Given the description of an element on the screen output the (x, y) to click on. 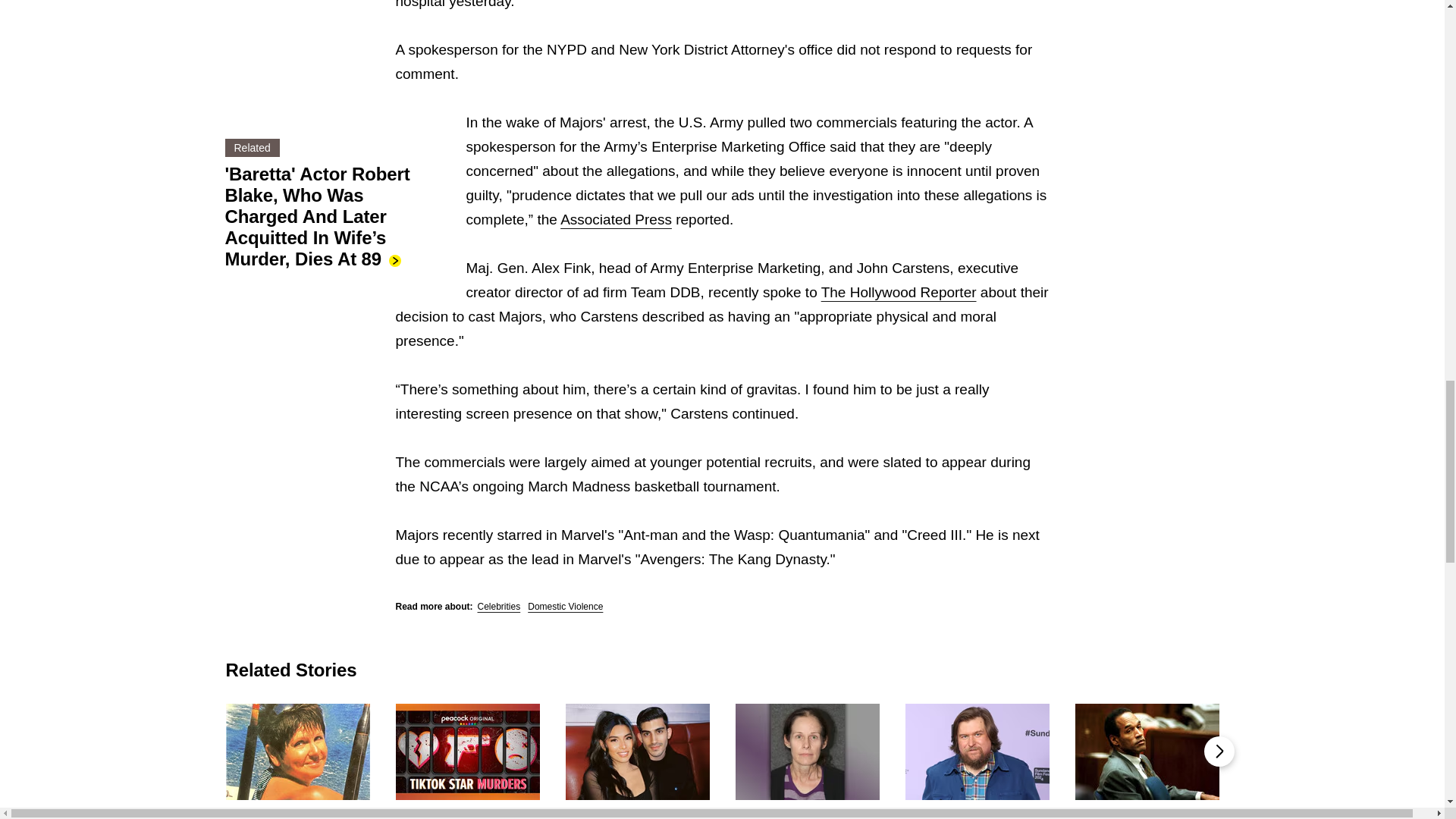
Domestic Violence (564, 606)
Reporter Details Chilling Interview with Suspected Killer (468, 813)
Celebrities (499, 606)
Man Starts Uncontrollable Blaze on a Georgia Boat, Killing 2 (297, 813)
Famous TikToker Ali Abulaban Killed Estranged Wife, Friend (638, 813)
The Hollywood Reporter (898, 292)
Associated Press (615, 219)
Michael Chernus to Lead Devil in Disguise: John Wayne Gacy (977, 813)
